Given the description of an element on the screen output the (x, y) to click on. 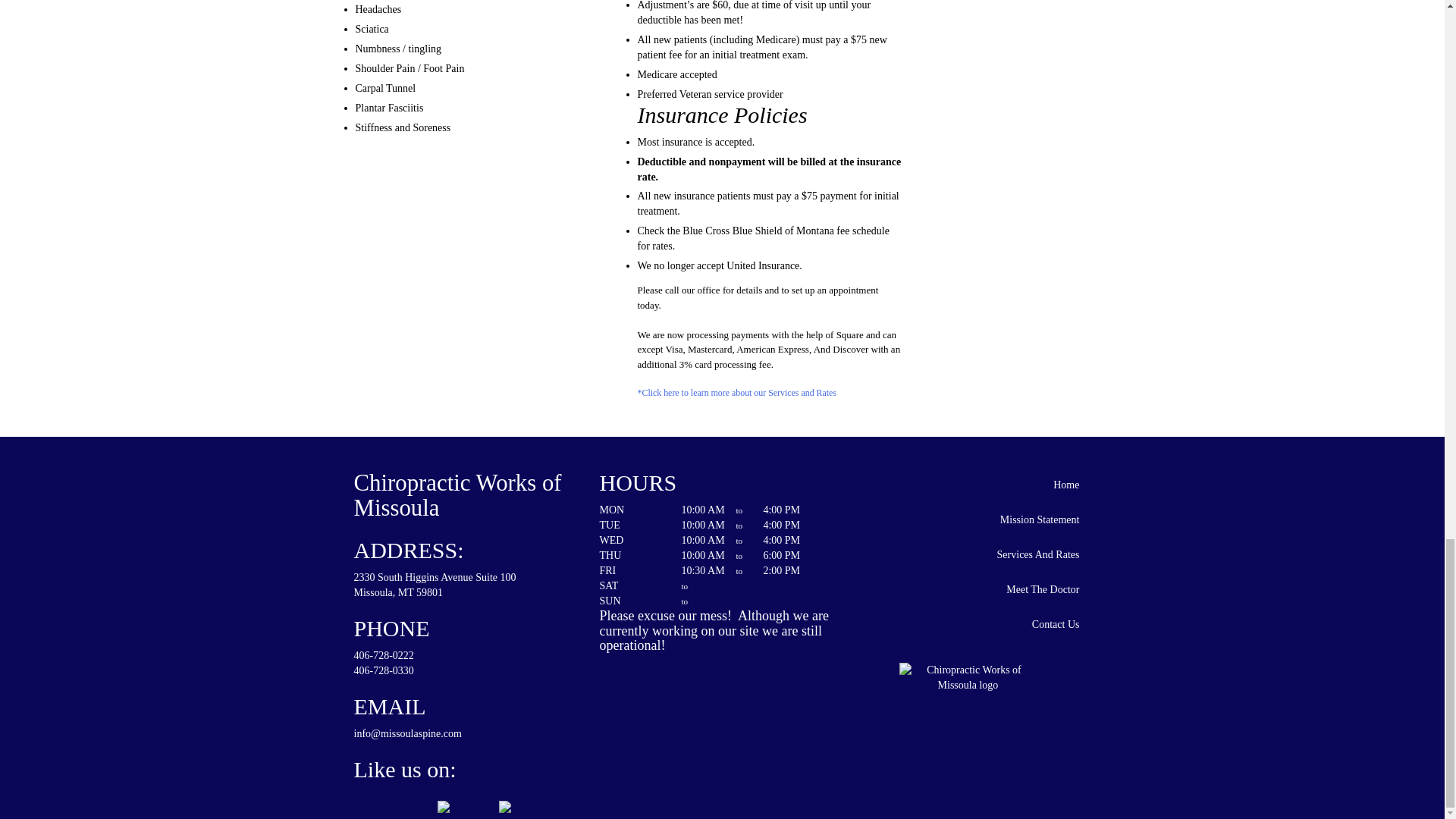
Home (967, 485)
Mission Statement (967, 520)
Contact Us (967, 624)
Home (967, 485)
Services And Rates (967, 554)
Meet The Doctor (967, 589)
